Given the description of an element on the screen output the (x, y) to click on. 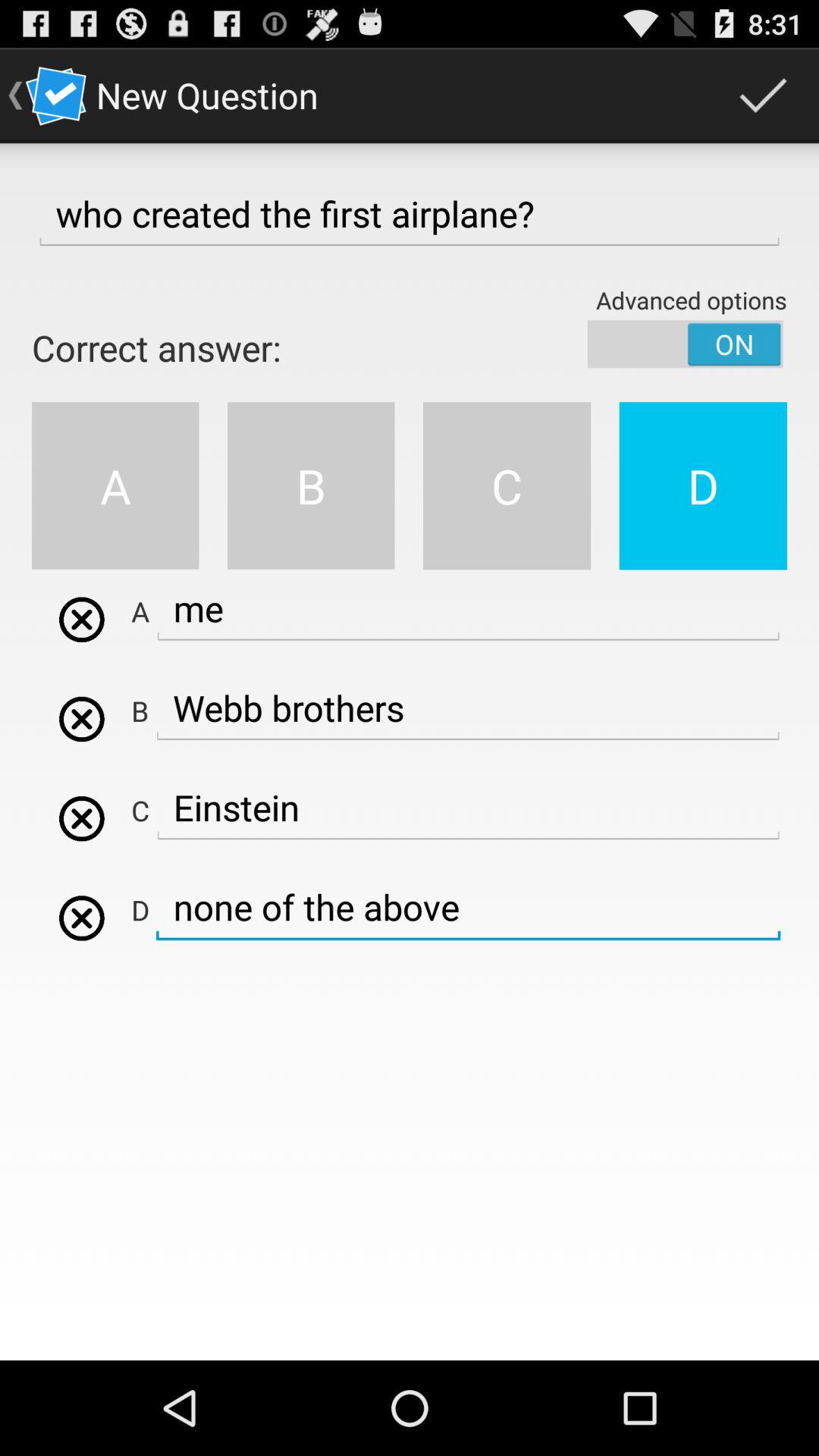
cancel button (81, 619)
